Given the description of an element on the screen output the (x, y) to click on. 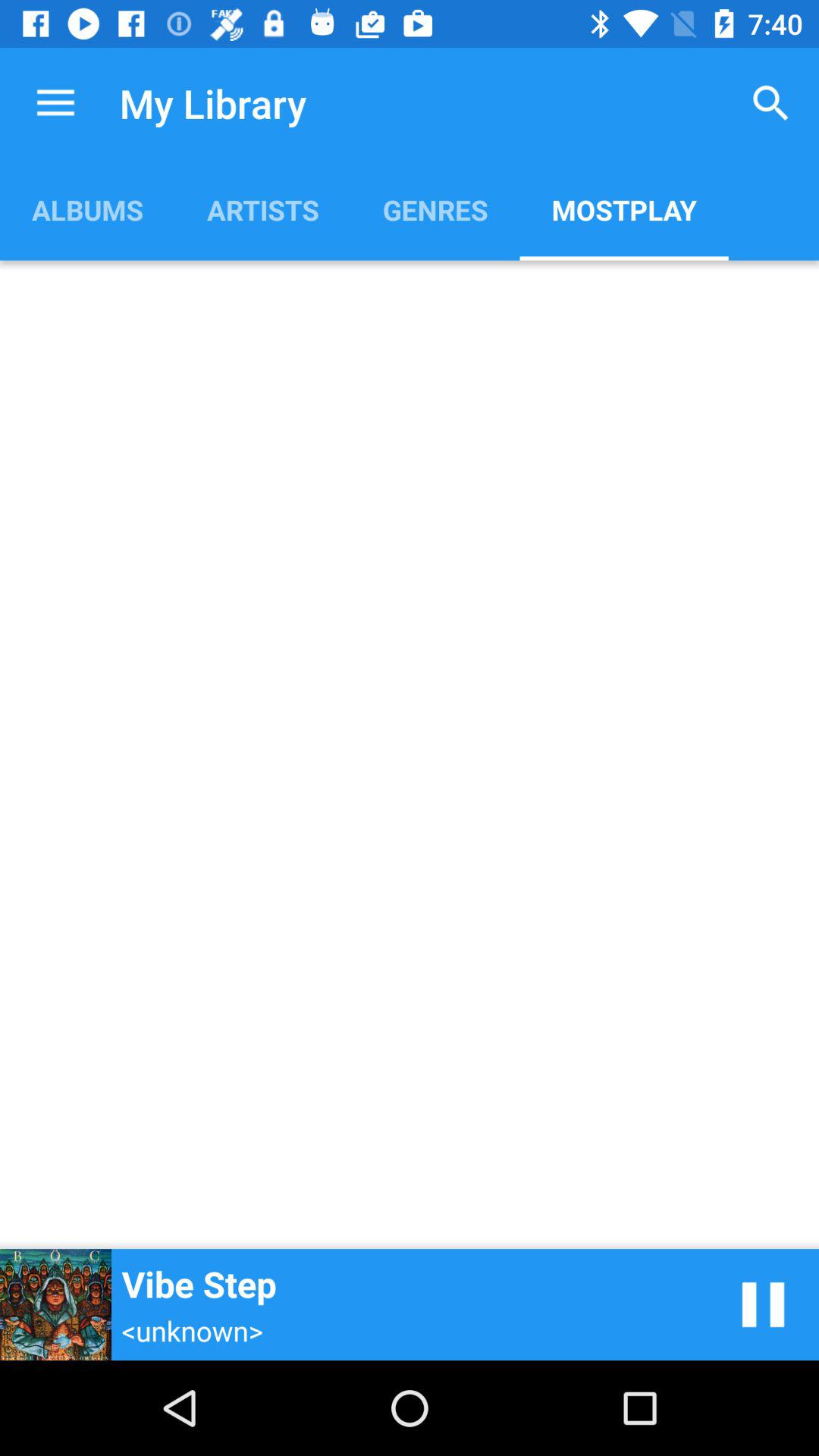
jump to artists item (262, 209)
